Given the description of an element on the screen output the (x, y) to click on. 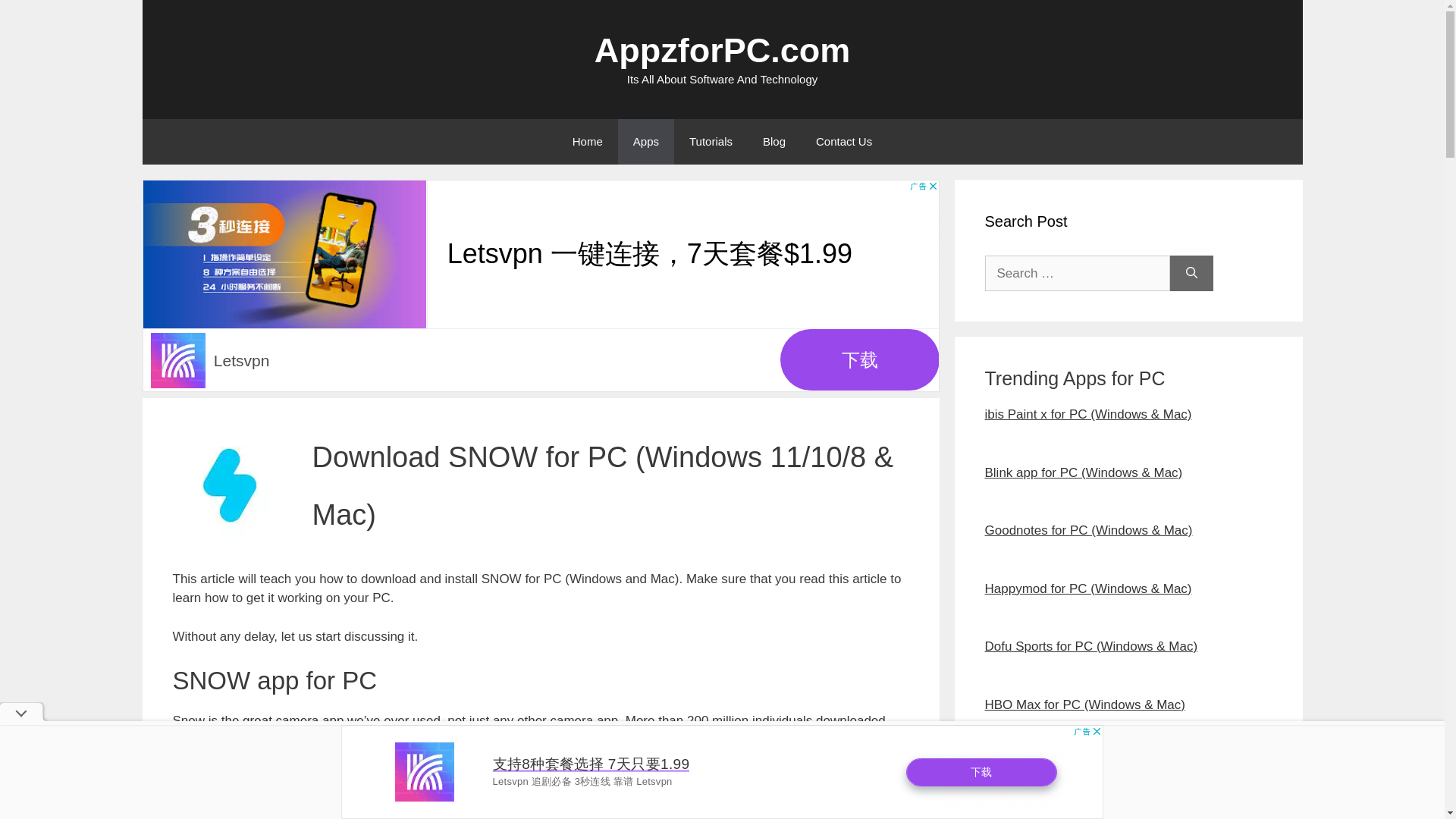
Search for: (1076, 272)
Contact Us (843, 140)
Home (587, 140)
Advertisement (721, 771)
Tutorials (711, 140)
Advertisement (540, 794)
Blog (774, 140)
Apps (645, 140)
great camera app (293, 720)
AppzforPC.com (722, 50)
